Given the description of an element on the screen output the (x, y) to click on. 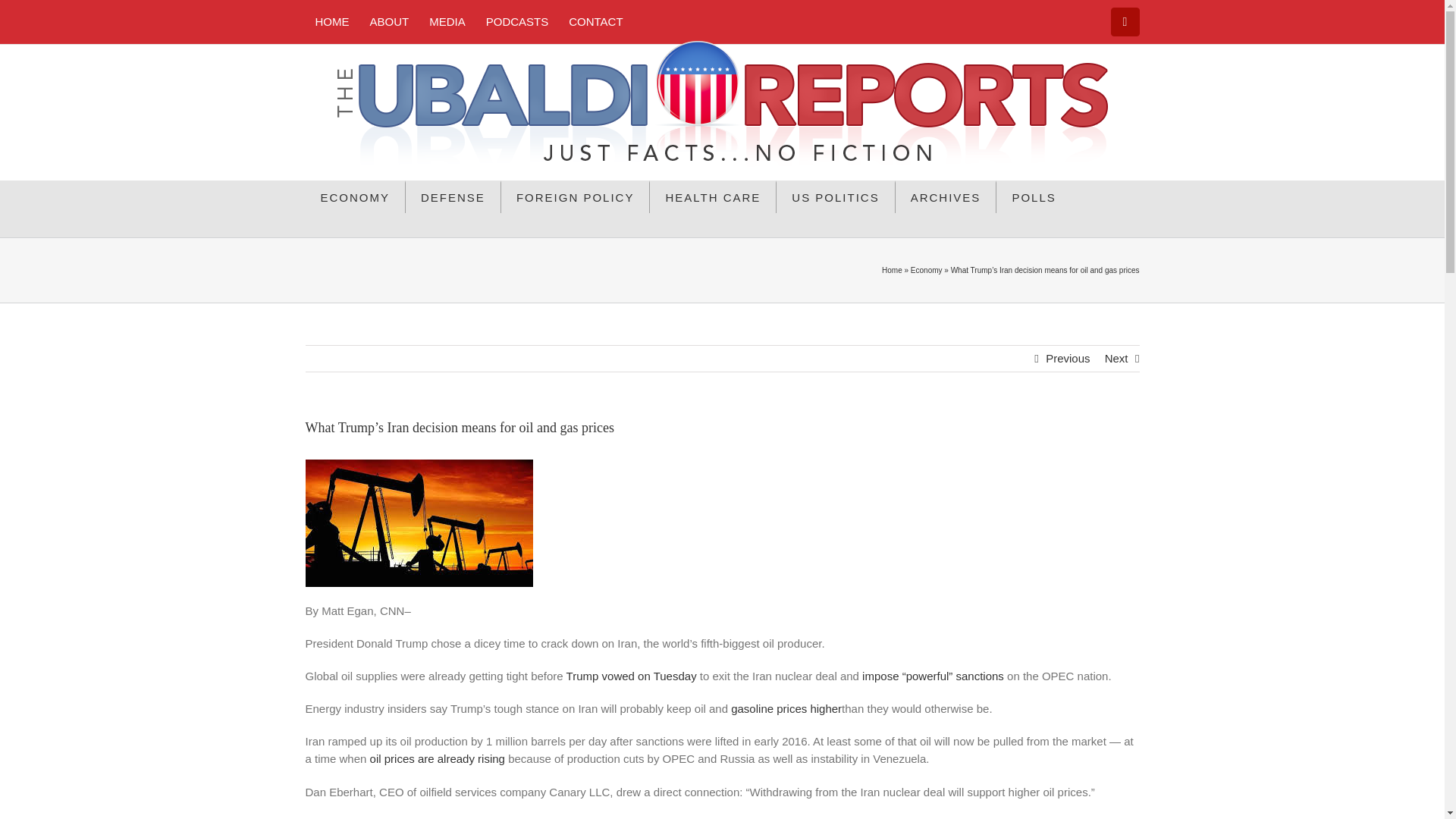
HOME (331, 21)
Next (1116, 358)
US POLITICS (835, 196)
Previous (1067, 358)
ARCHIVES (946, 196)
Home (892, 270)
ABOUT (389, 21)
PODCASTS (517, 21)
FOREIGN POLICY (575, 196)
About Ubaldi (389, 21)
ECONOMY (355, 196)
MEDIA (447, 21)
CONTACT (595, 21)
POLLS (1032, 196)
DEFENSE (453, 196)
